Given the description of an element on the screen output the (x, y) to click on. 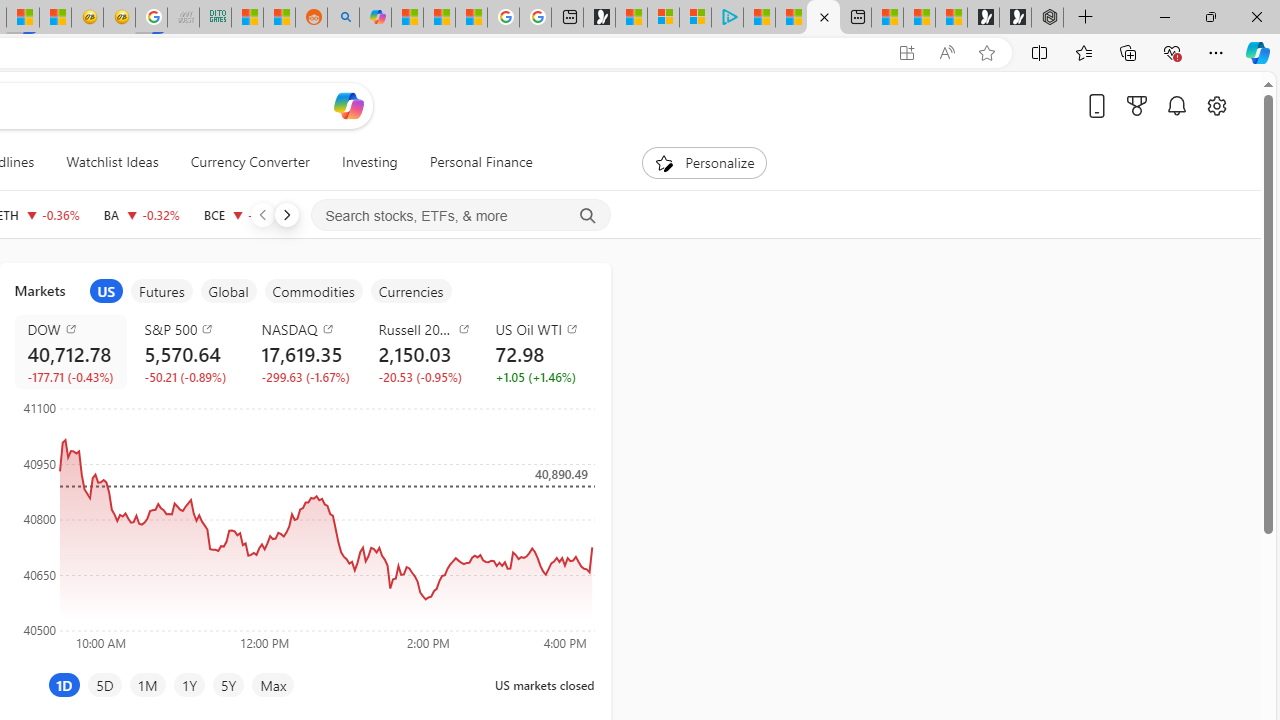
BCE BCE Inc decrease 34.55 -0.08 -0.22% (244, 214)
S&P 500 INX decrease 5,570.64 -50.21 -0.89% (187, 351)
Investing (369, 162)
